Given the description of an element on the screen output the (x, y) to click on. 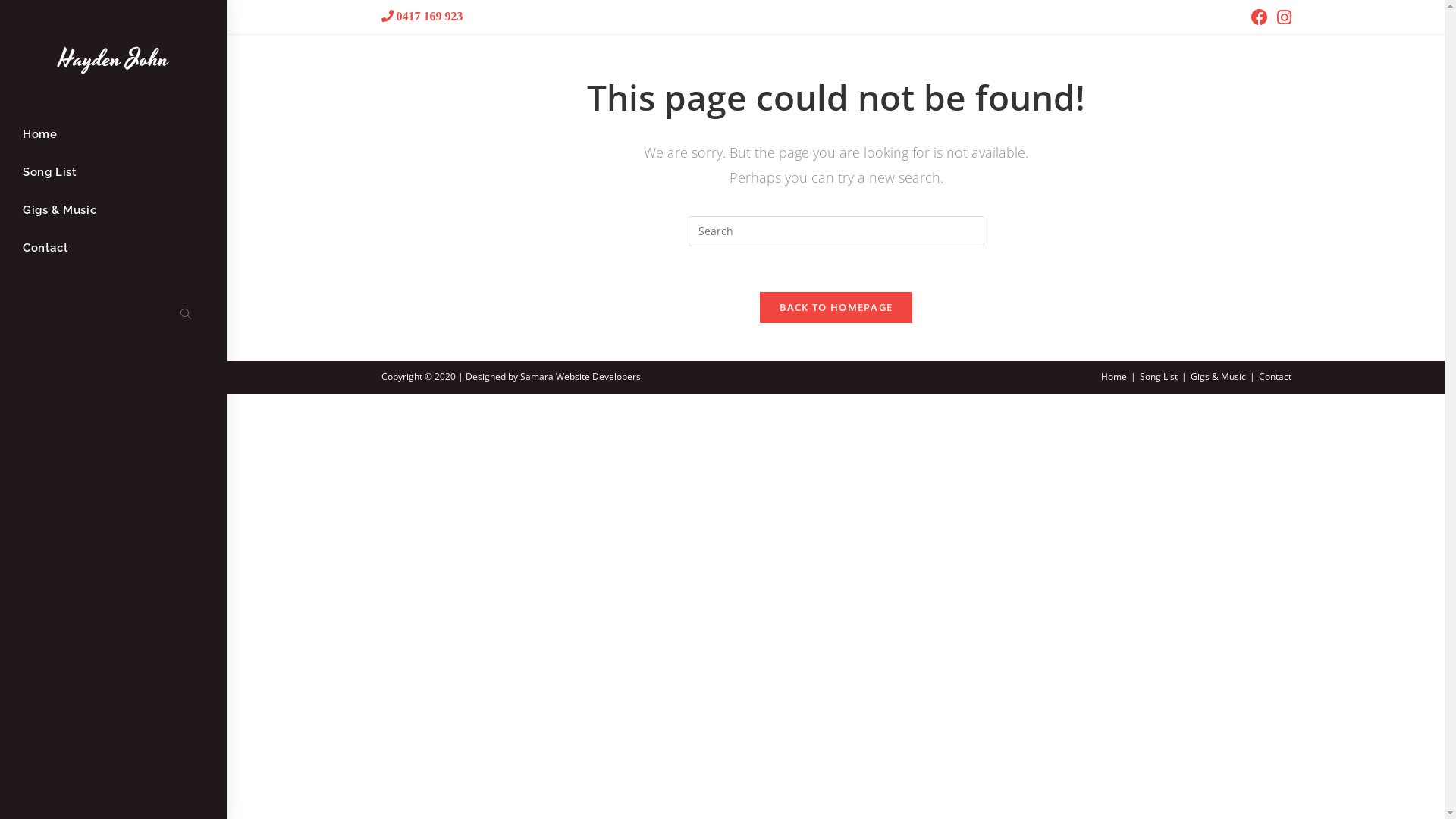
Song List Element type: text (1157, 376)
Hayden John Element type: text (114, 59)
Home Element type: text (113, 134)
Song List Element type: text (113, 172)
Contact Element type: text (113, 247)
Gigs & Music Element type: text (113, 210)
Home Element type: text (1113, 376)
Samara Website Developers Element type: text (580, 376)
Gigs & Music Element type: text (1217, 376)
Contact Element type: text (1274, 376)
BACK TO HOMEPAGE Element type: text (836, 307)
